Given the description of an element on the screen output the (x, y) to click on. 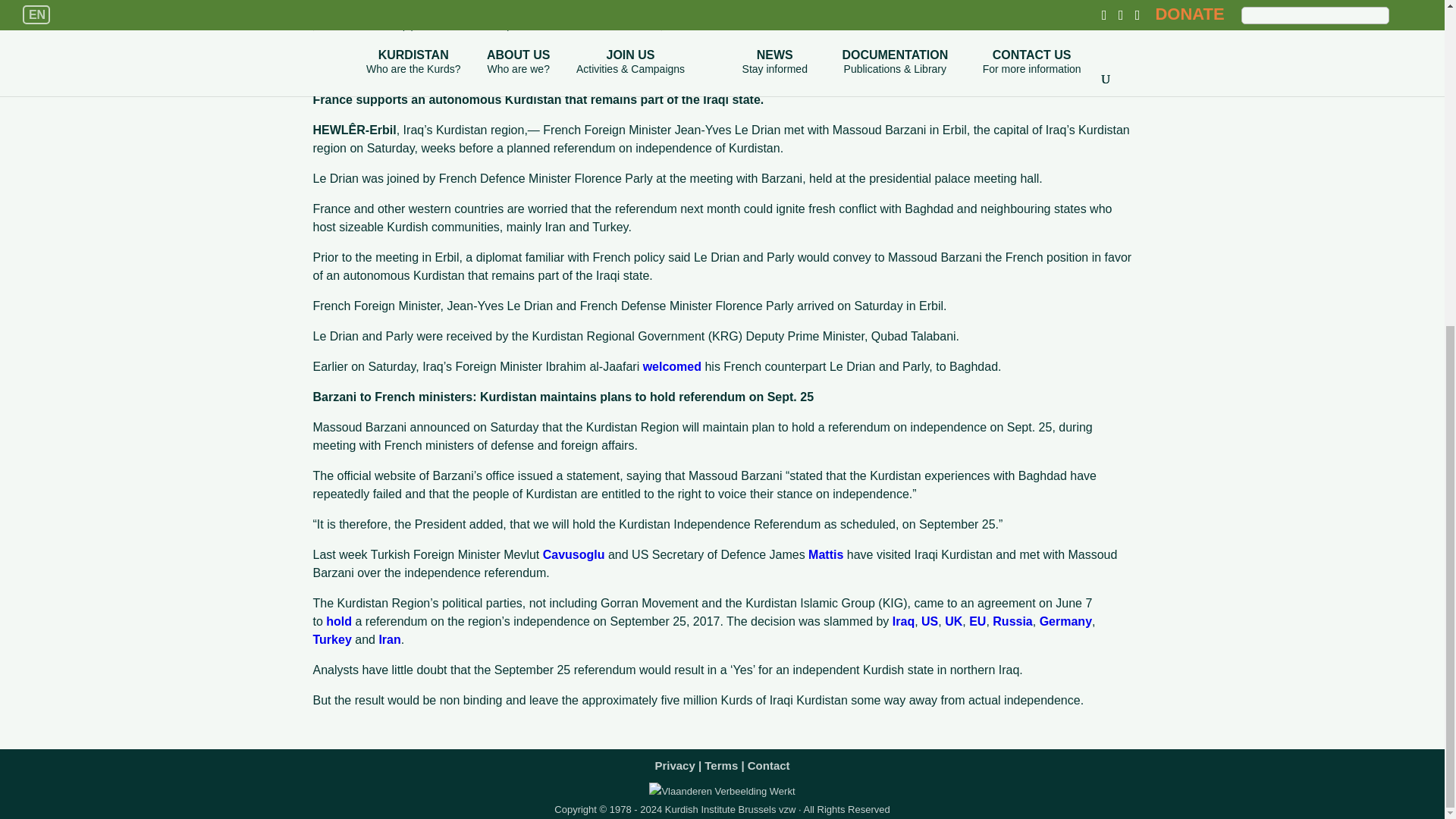
Germany (1065, 621)
Terms (721, 761)
US (929, 621)
Mattis (825, 554)
Turkey (331, 639)
Iraq (903, 621)
EU (977, 621)
Cavusoglu (574, 554)
Iran (389, 639)
welcomed (672, 366)
